Given the description of an element on the screen output the (x, y) to click on. 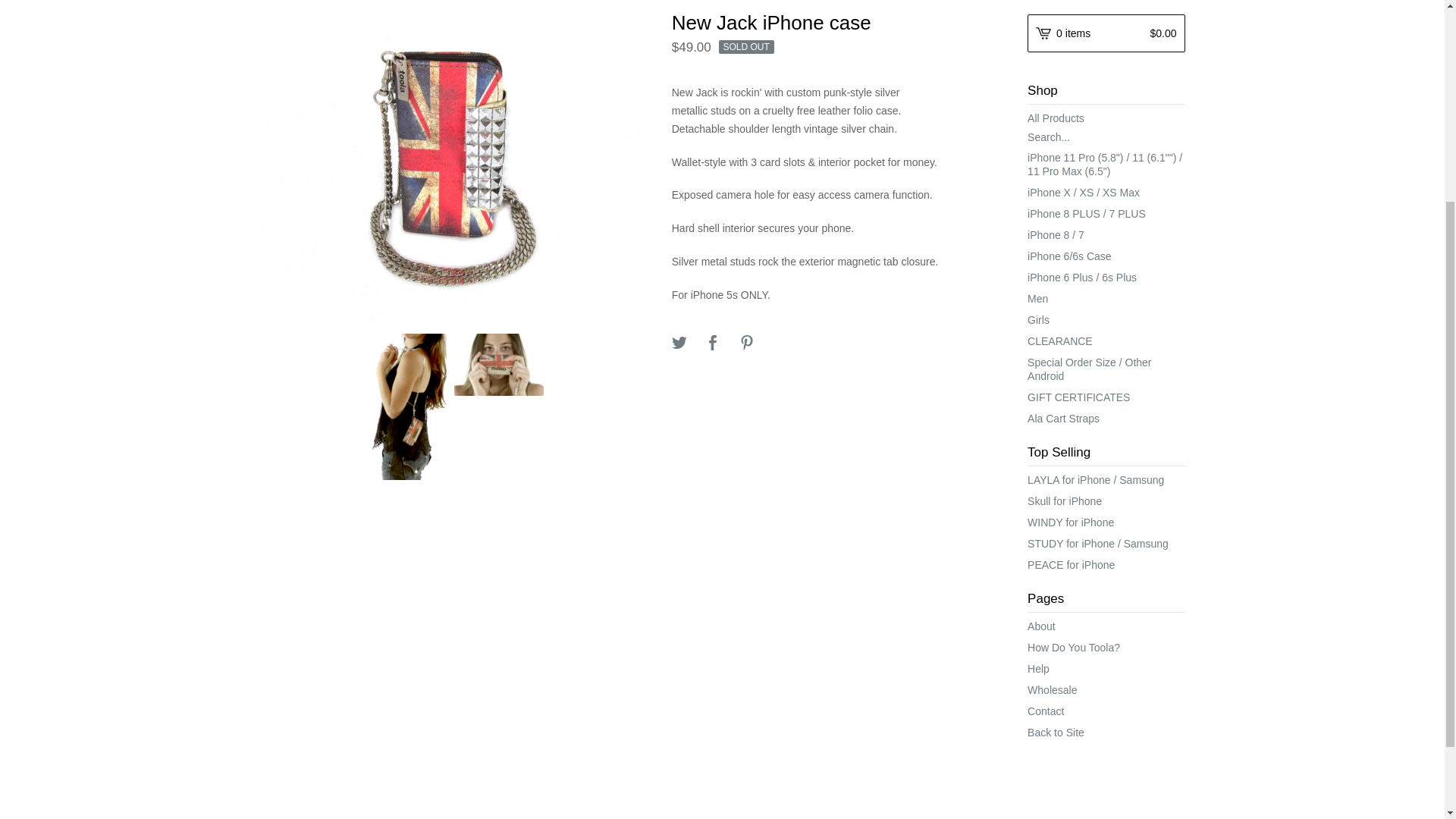
View Girls (1106, 319)
How Do You Toola? (1106, 647)
Back to Site (1106, 731)
View GIFT CERTIFICATES (1106, 396)
GIFT CERTIFICATES (1106, 396)
Contact (1106, 711)
Men (1106, 298)
Wholesale (1106, 690)
View Men (1106, 298)
View Ala Cart Straps (1106, 418)
